Given the description of an element on the screen output the (x, y) to click on. 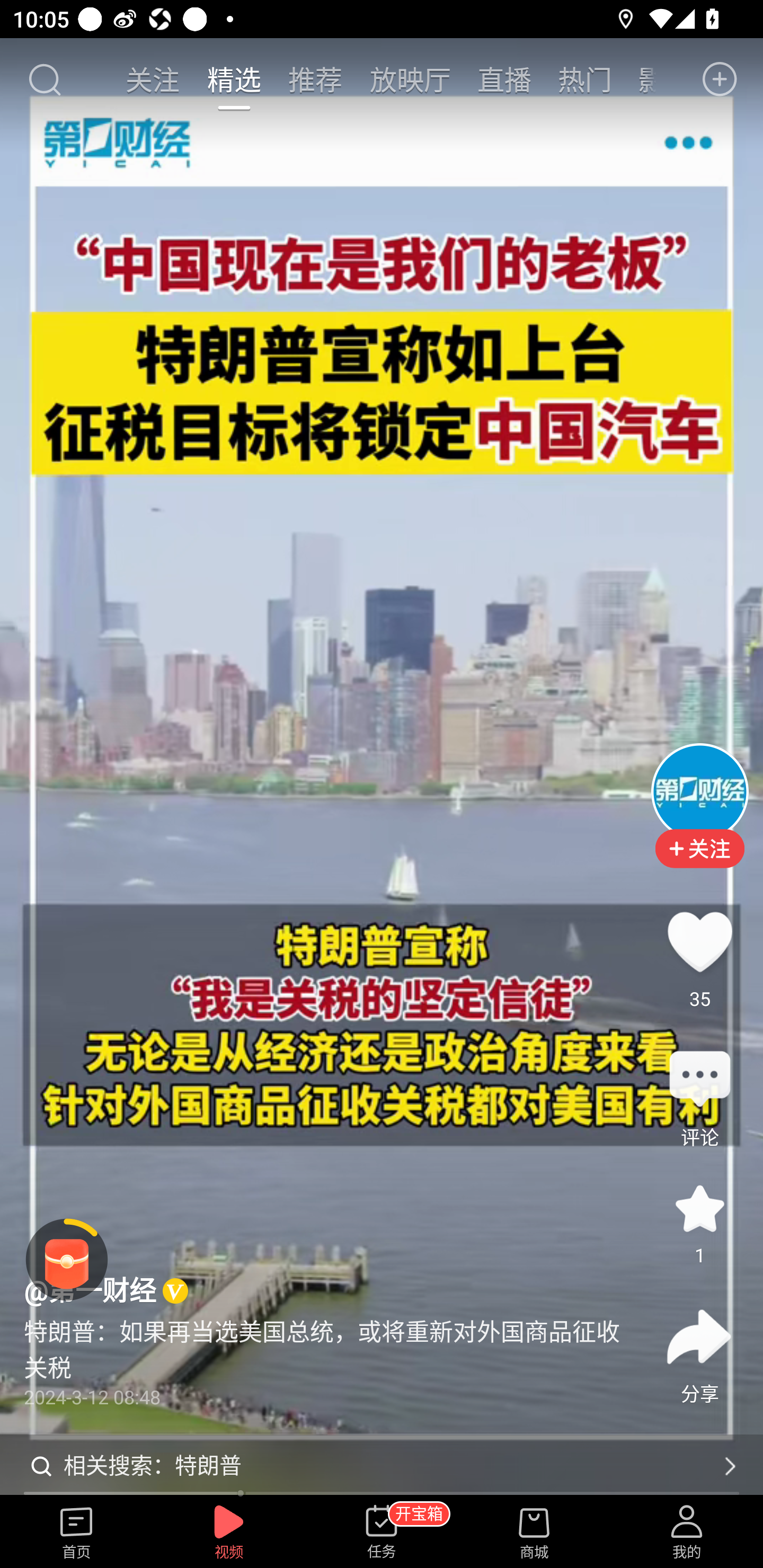
关注 (153, 79)
精选 (233, 79)
推荐 (315, 79)
放映厅 (409, 79)
直播 (504, 79)
热门 (584, 79)
搜索 (44, 79)
发布 (720, 79)
头像 (699, 791)
加关注 (699, 862)
点赞35 35 (699, 941)
评论 评论 评论 (699, 1080)
收藏 1 (699, 1207)
阅读赚金币 (66, 1259)
分享 (699, 1336)
相关搜索：特朗普 (381, 1465)
首页 (76, 1532)
视频 (228, 1532)
任务 开宝箱 (381, 1532)
商城 (533, 1532)
我的 (686, 1532)
